Given the description of an element on the screen output the (x, y) to click on. 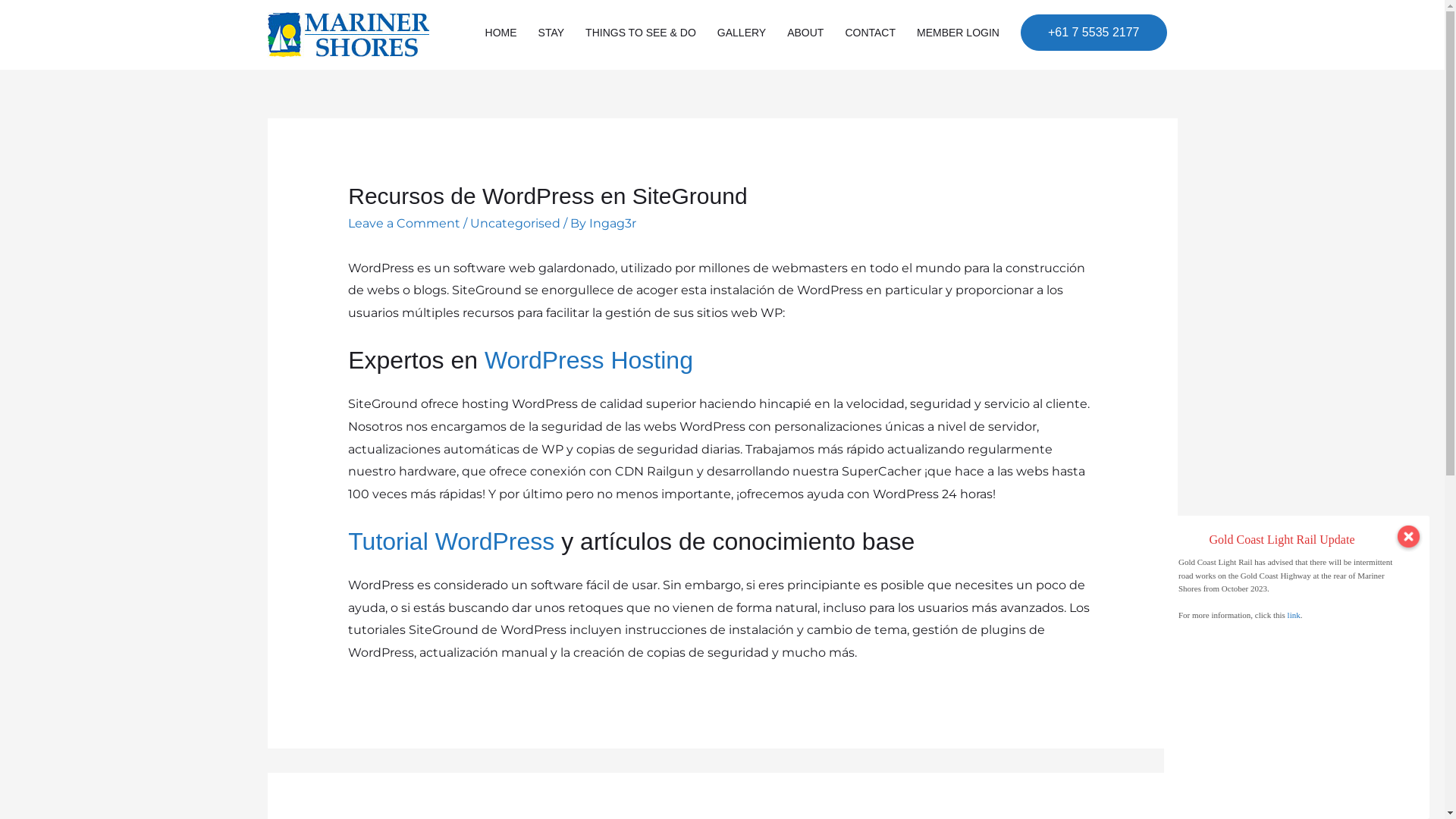
ABOUT Element type: text (805, 31)
WordPress Hosting Element type: text (588, 359)
+61 7 5535 2177 Element type: text (1093, 32)
CONTACT Element type: text (870, 31)
+61 7 5535 2177 Element type: text (1093, 32)
MEMBER LOGIN Element type: text (958, 31)
link Element type: text (1293, 614)
THINGS TO SEE & DO Element type: text (640, 31)
GALLERY Element type: text (741, 31)
Leave a Comment Element type: text (404, 223)
STAY Element type: text (551, 31)
HOME Element type: text (500, 31)
Tutorial WordPress Element type: text (451, 541)
Ingag3r Element type: text (612, 223)
